Given the description of an element on the screen output the (x, y) to click on. 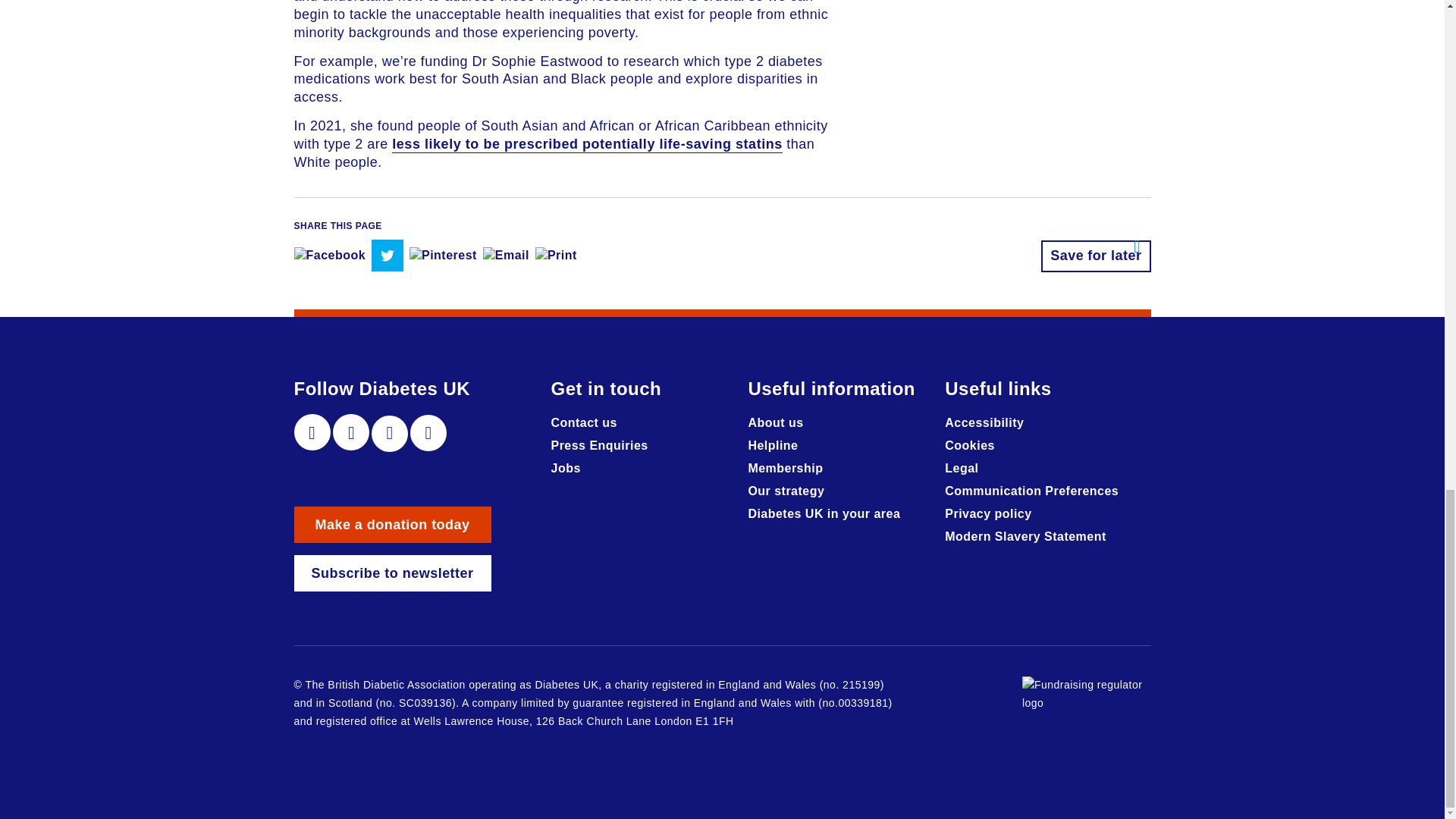
less likely to be prescribed potentially life-saving statins (587, 144)
